Given the description of an element on the screen output the (x, y) to click on. 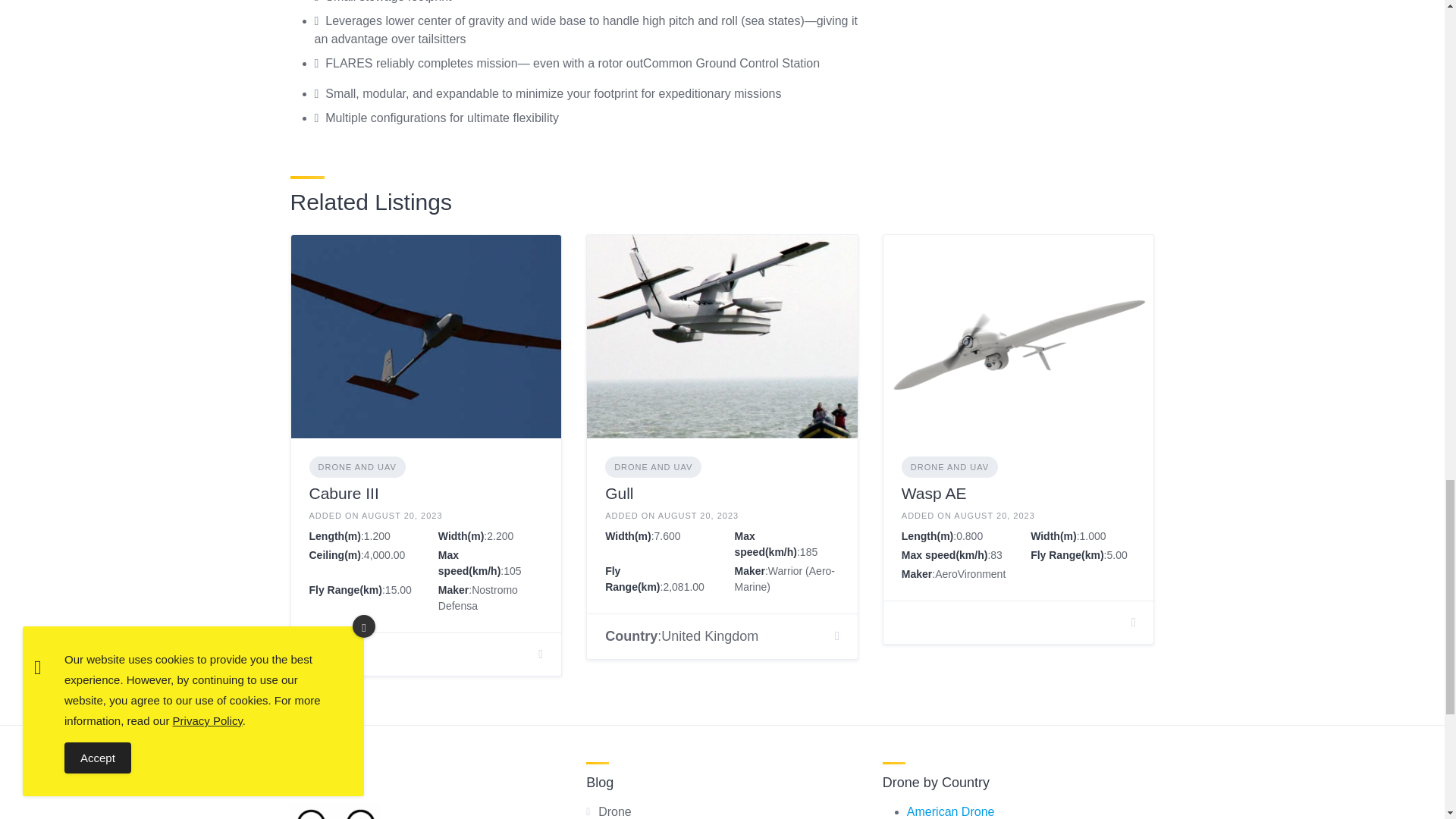
Gull (619, 493)
American Drone (950, 811)
Page 1 (573, 63)
DRONE AND UAV (357, 467)
Drone (614, 811)
DRONE AND UAV (949, 467)
Wasp AE (933, 493)
Page 1 (573, 63)
Page 1 (573, 63)
DRONE AND UAV (653, 467)
Cabure III (343, 493)
